Given the description of an element on the screen output the (x, y) to click on. 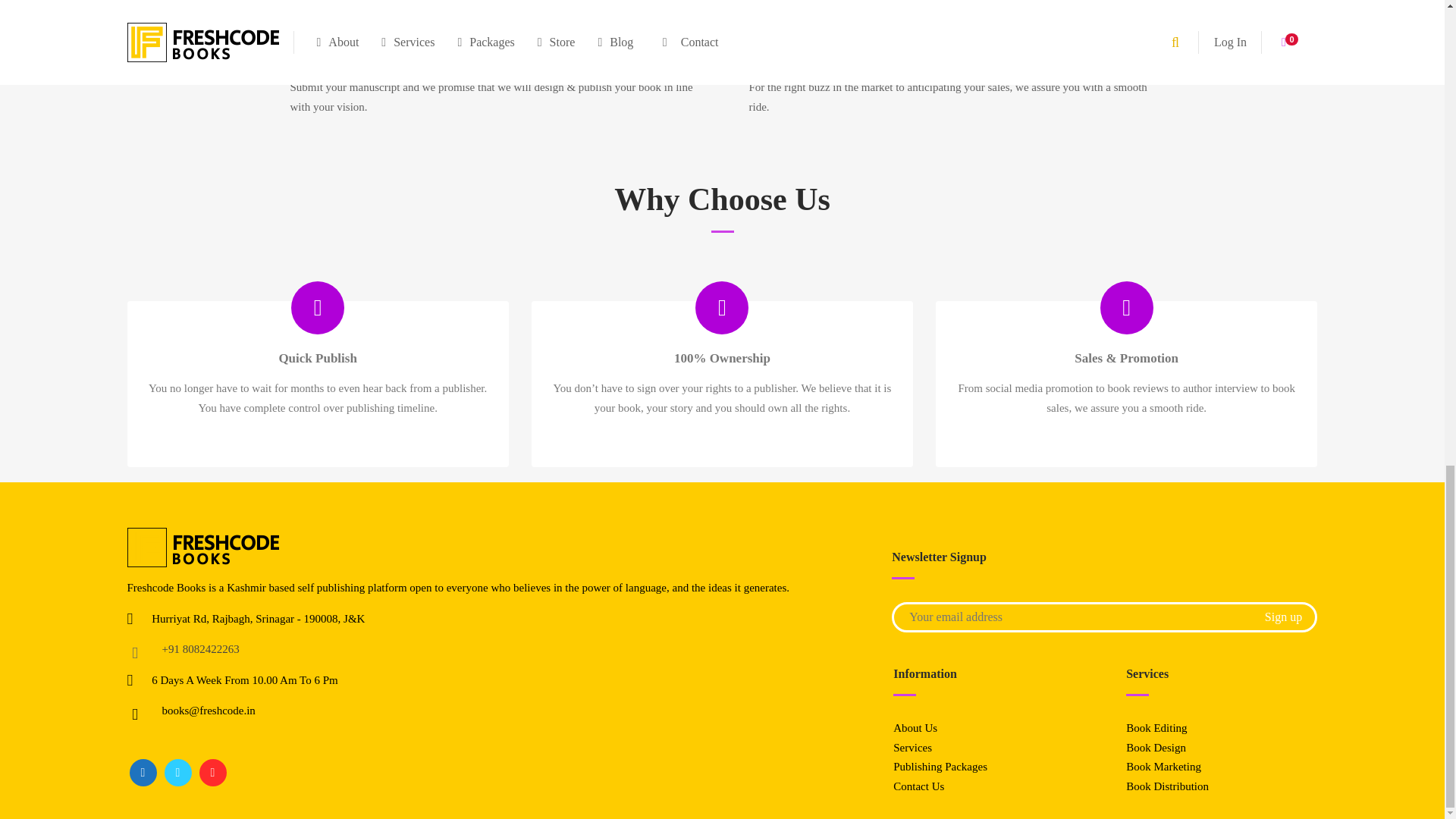
Book Editing (1155, 727)
Book Marketing (1163, 766)
About Us (915, 727)
Sign up (1283, 616)
Book Design (1155, 747)
Publishing Packages (940, 766)
Services (912, 747)
Contact Us (918, 786)
Sign up (1283, 616)
